Given the description of an element on the screen output the (x, y) to click on. 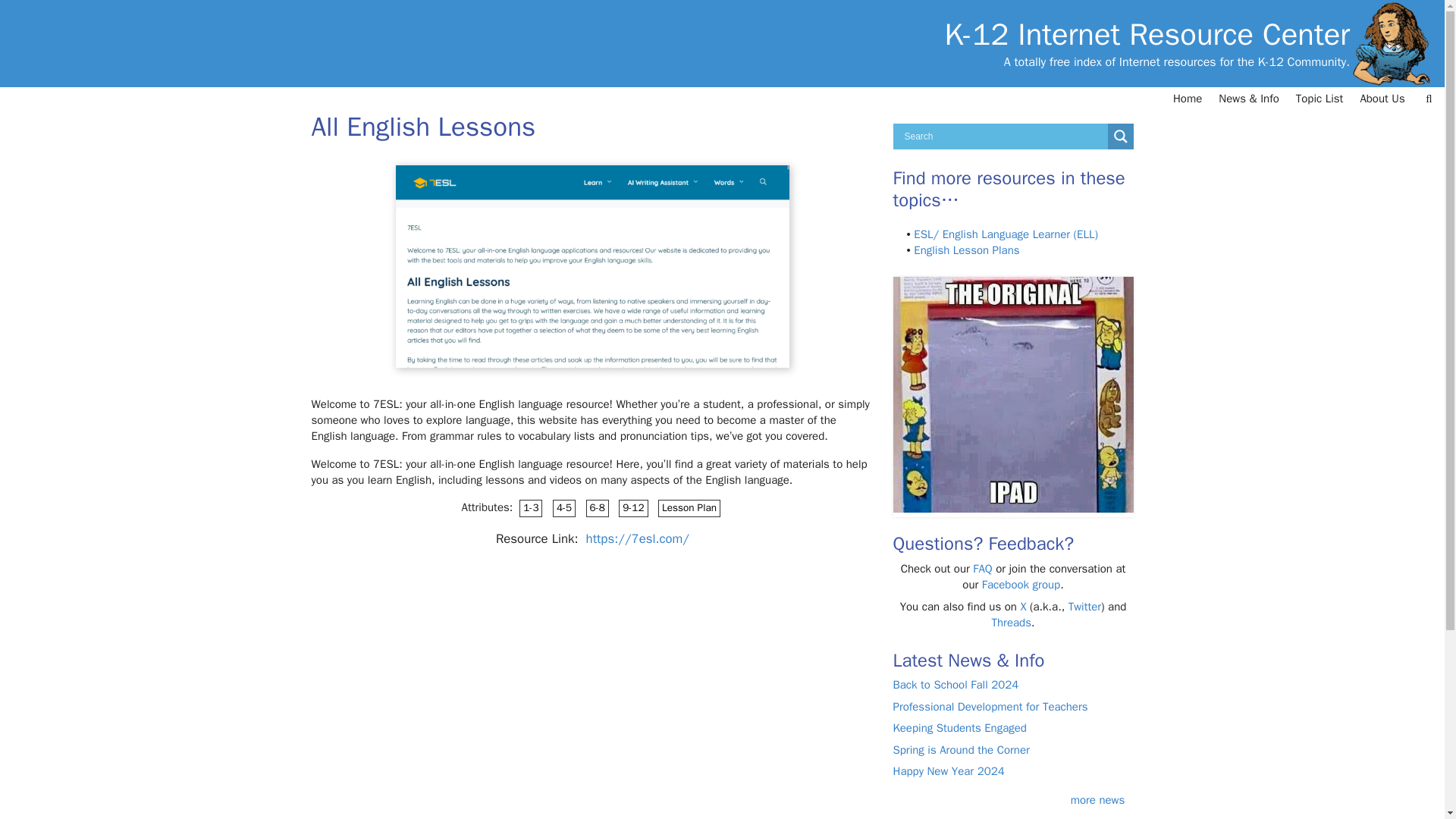
more news (1097, 799)
6-8 (597, 507)
K-12 Internet Resource Center (1146, 34)
Keeping Students Engaged (959, 727)
Topic List (1319, 98)
4-5 (564, 507)
English Lesson Plans (966, 250)
Professional Development for Teachers (990, 706)
Lesson Plan (689, 507)
Threads (1010, 622)
Happy New Year 2024 (948, 771)
Twitter (1084, 606)
Facebook group (1020, 584)
1-3 (530, 507)
Home (1186, 98)
